Given the description of an element on the screen output the (x, y) to click on. 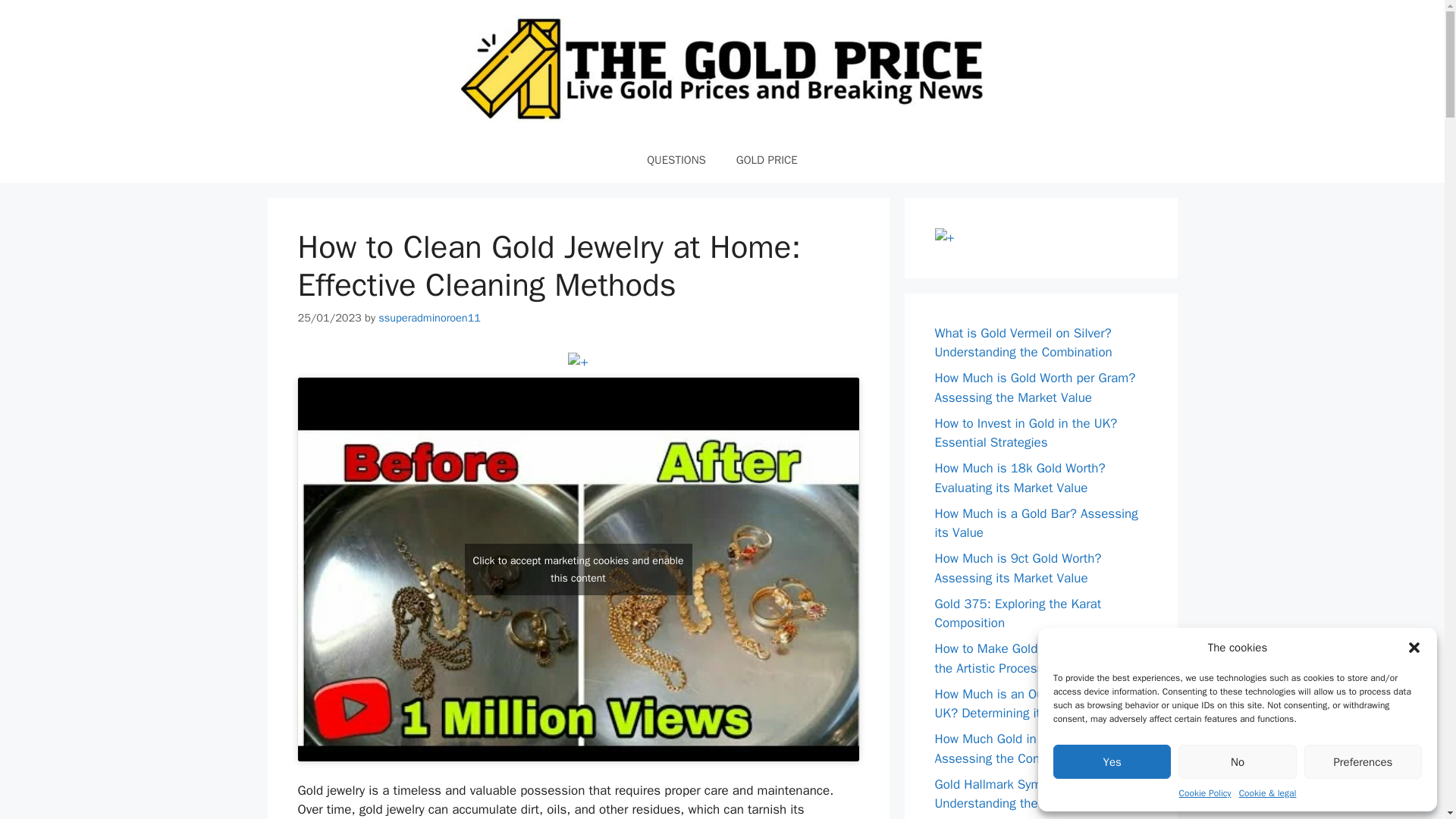
GOLD PRICE (766, 159)
Click to accept marketing cookies and enable this content (577, 569)
View all posts by ssuperadminoroen11 (429, 317)
No (1236, 761)
ssuperadminoroen11 (429, 317)
Preferences (1363, 761)
Yes (1111, 761)
Cookie Policy (1205, 793)
QUESTIONS (675, 159)
